Given the description of an element on the screen output the (x, y) to click on. 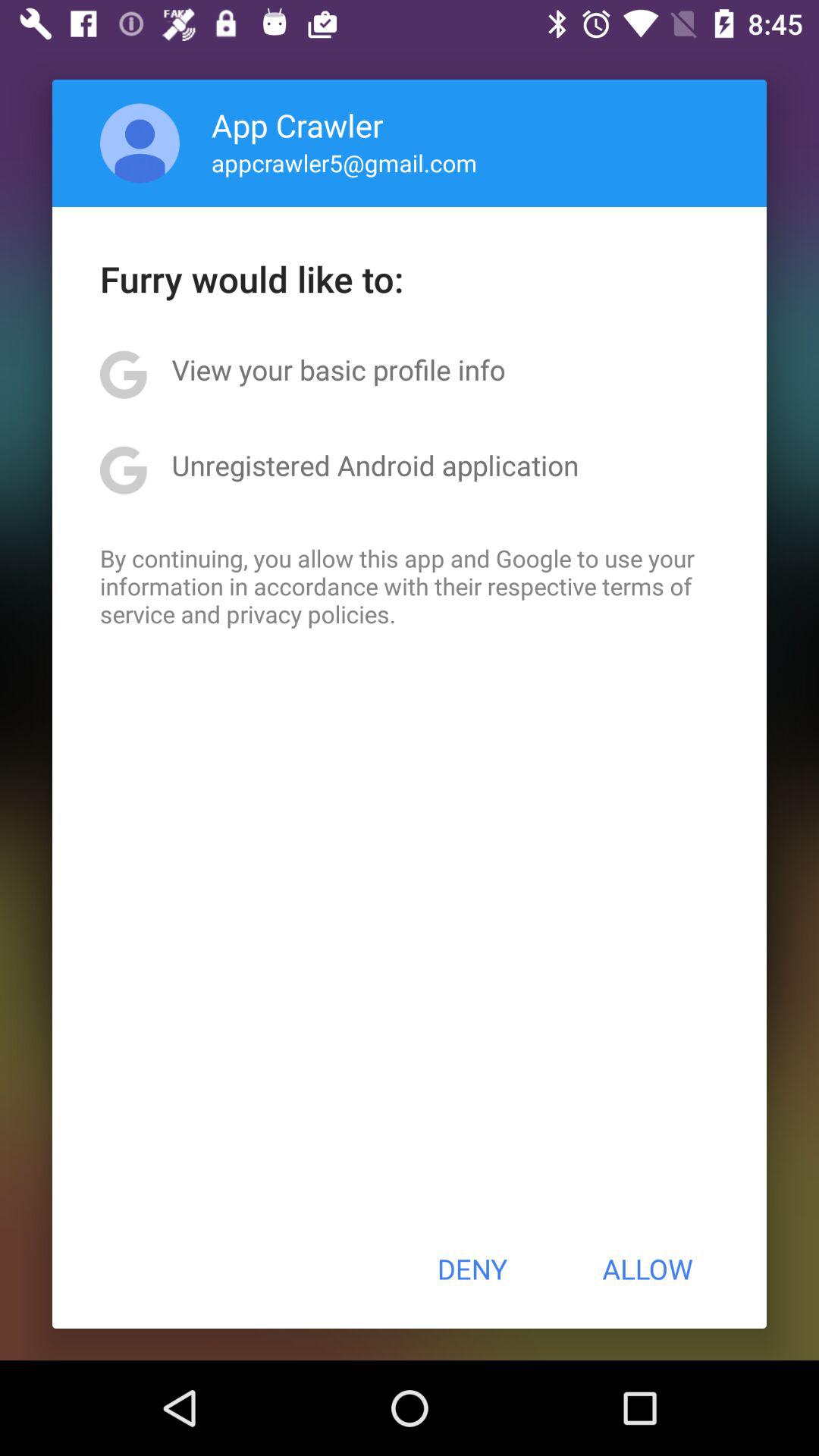
swipe to the appcrawler5@gmail.com item (344, 162)
